Given the description of an element on the screen output the (x, y) to click on. 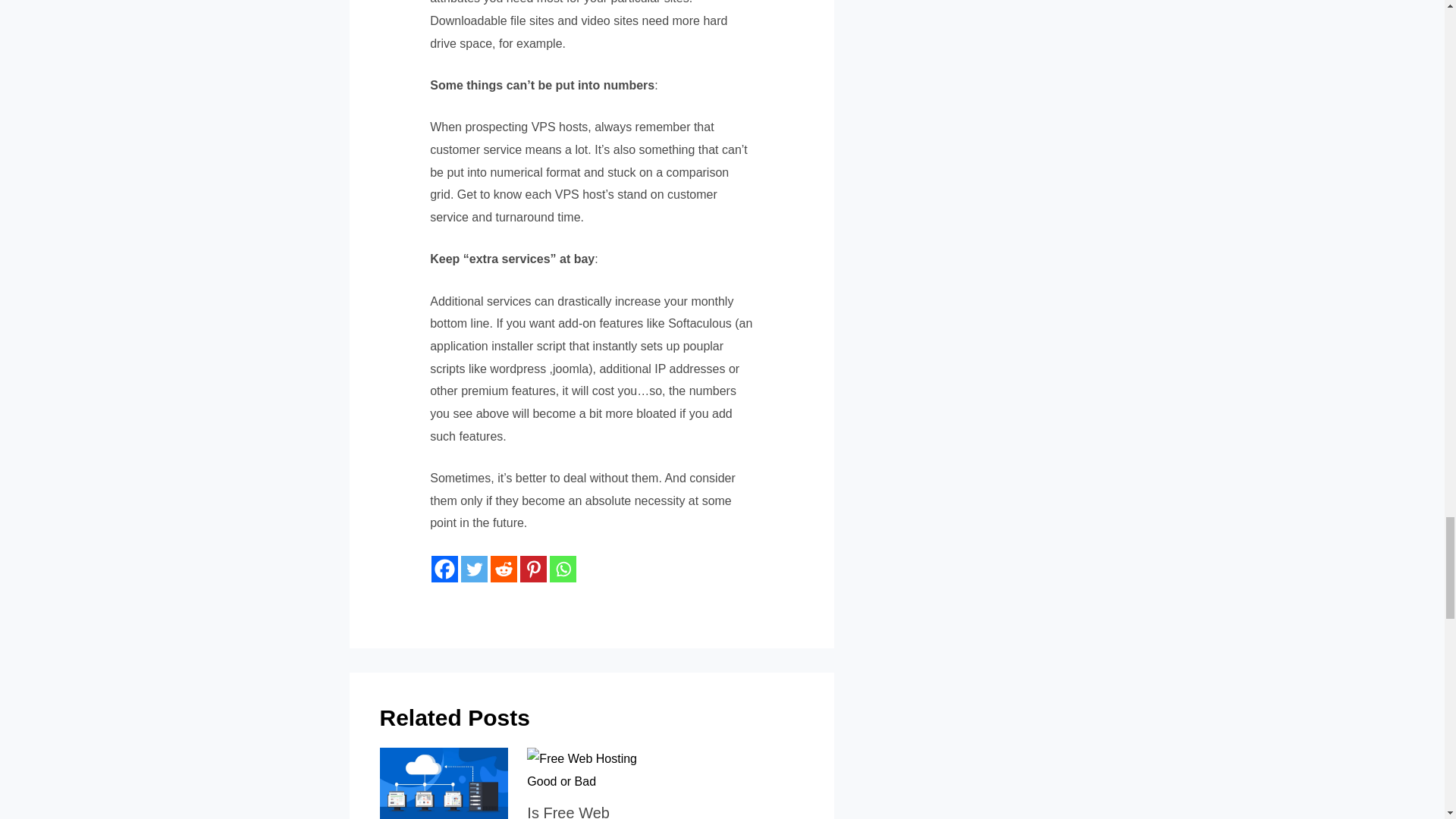
Twitter (474, 569)
Reddit (503, 569)
Whatsapp (563, 569)
Pinterest (533, 569)
Facebook (444, 569)
Is Free Web Hosting Good or Bad ? (582, 811)
